Given the description of an element on the screen output the (x, y) to click on. 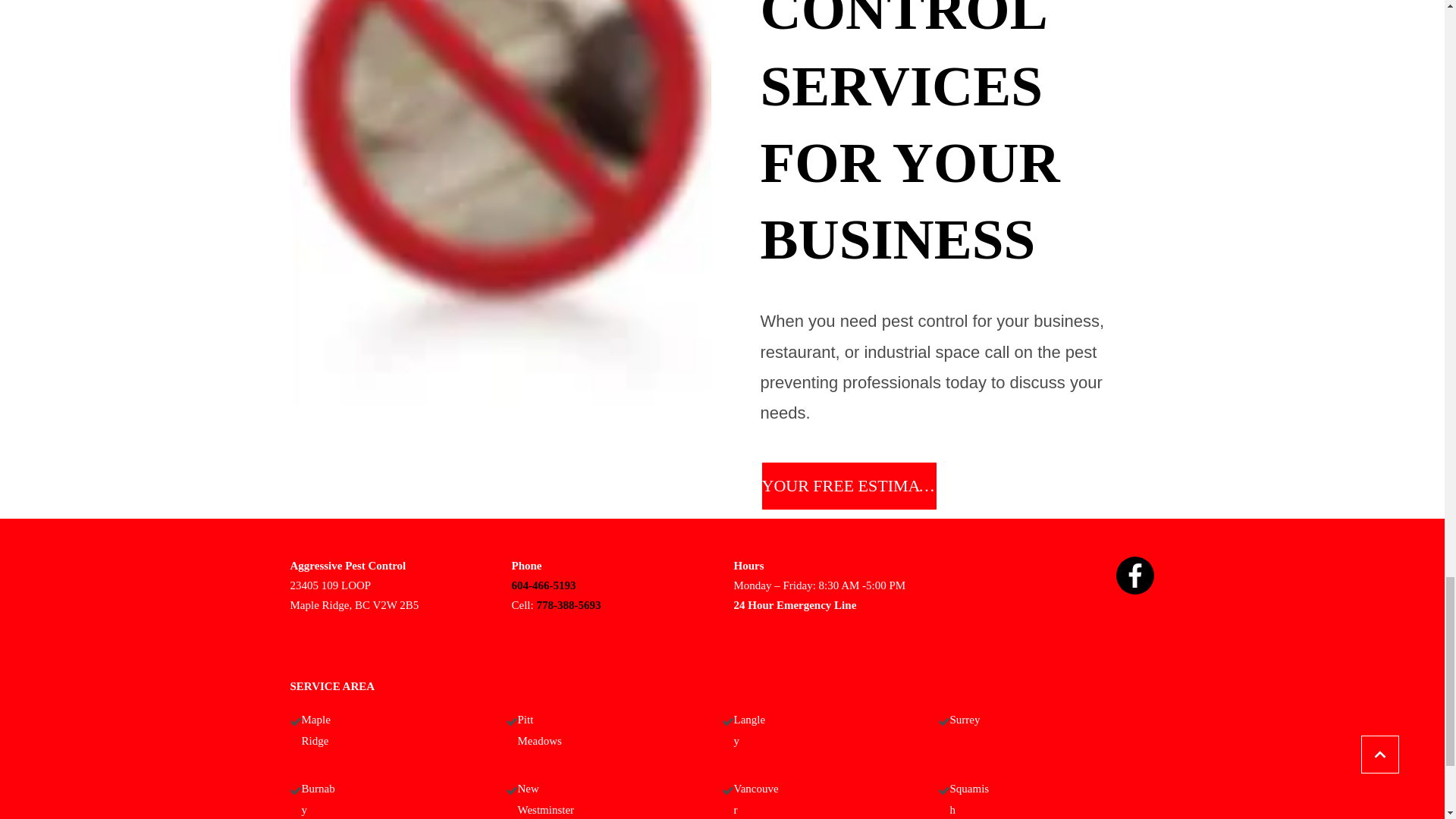
604-466-5193 (543, 585)
778-388-5693 (567, 604)
YOUR FREE ESTIMATE (848, 486)
